Given the description of an element on the screen output the (x, y) to click on. 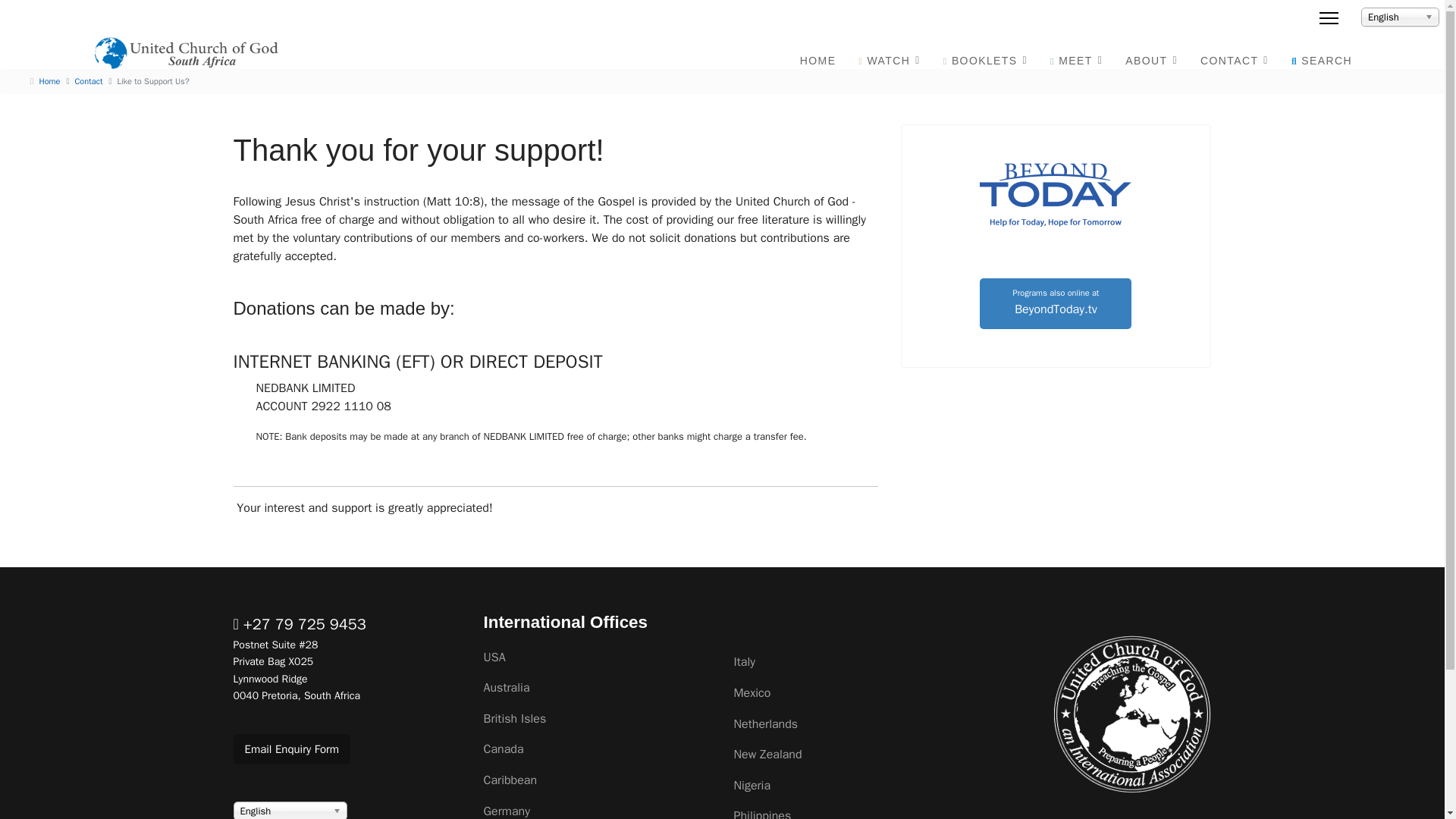
CONTACT (1234, 60)
HOME (818, 60)
ABOUT (1151, 60)
Watch (889, 60)
MEET (1076, 60)
WATCH (889, 60)
BOOKLETS (985, 60)
